Given the description of an element on the screen output the (x, y) to click on. 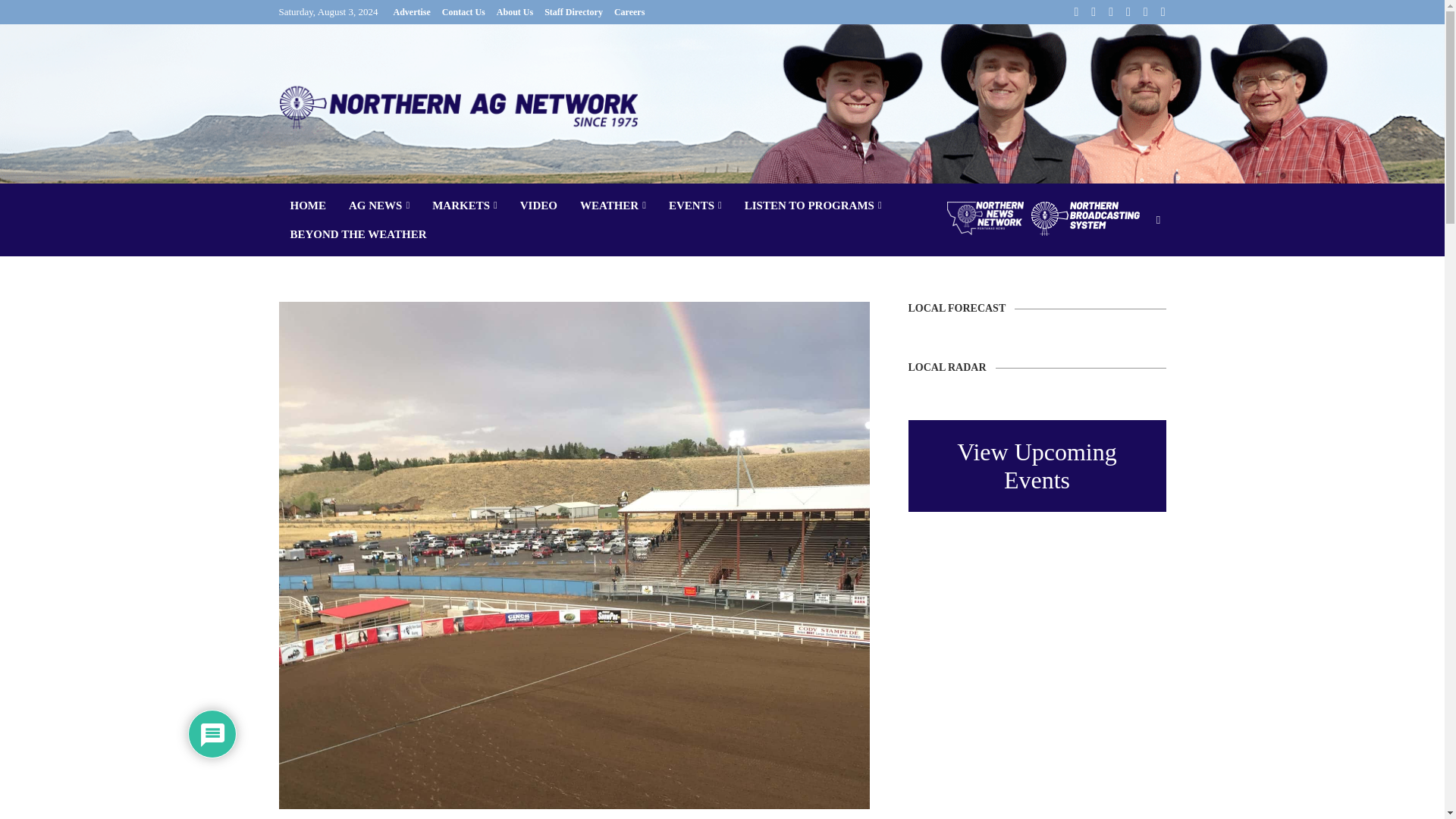
Contact Us (463, 12)
Advertise (411, 12)
Staff Directory (573, 12)
Careers (629, 12)
About Us (514, 12)
